Given the description of an element on the screen output the (x, y) to click on. 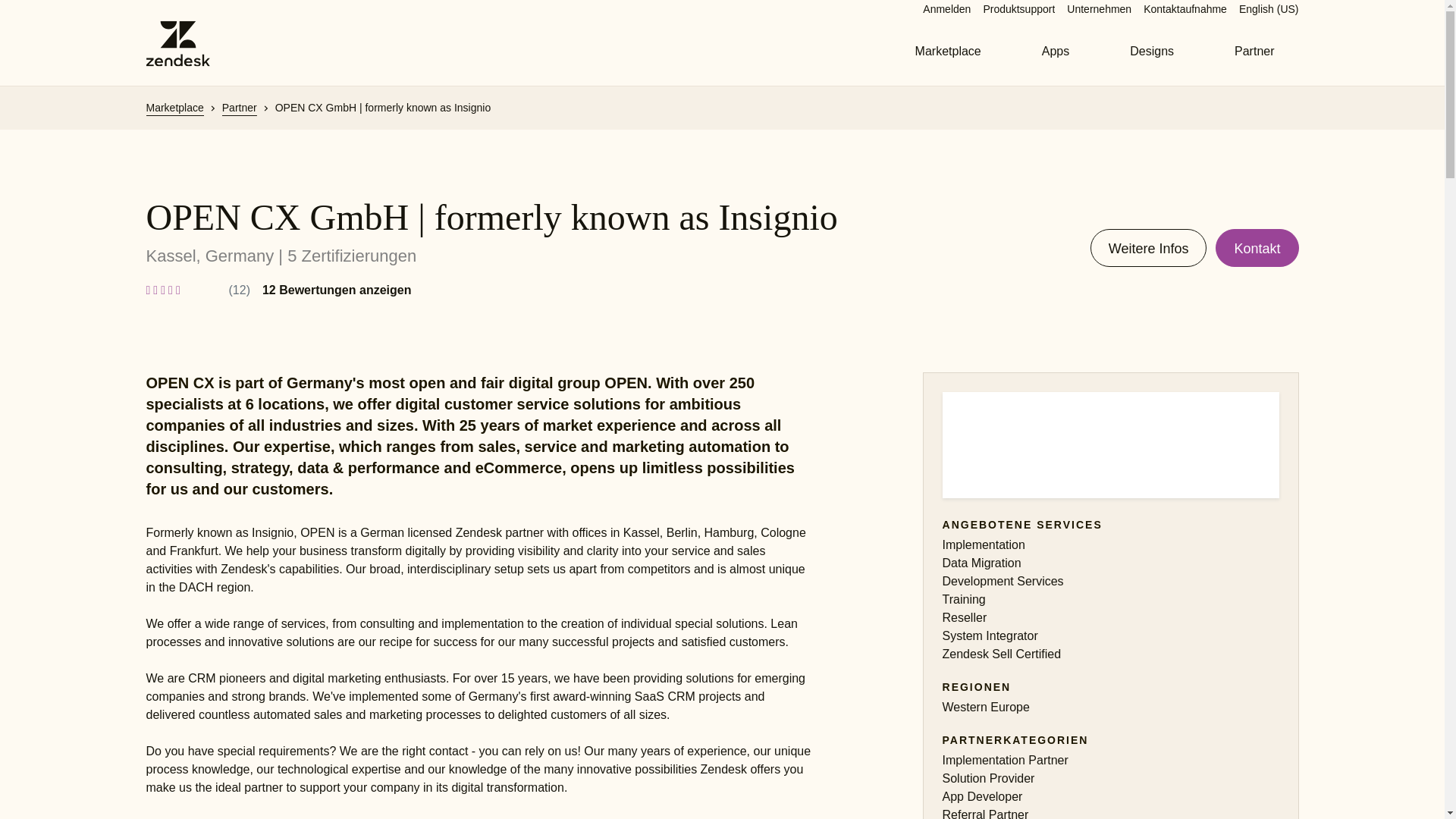
Anmelden (947, 9)
Produktsupport (1018, 9)
Kontaktaufnahme (1184, 9)
12 Bewertungen anzeigen (337, 290)
